Given the description of an element on the screen output the (x, y) to click on. 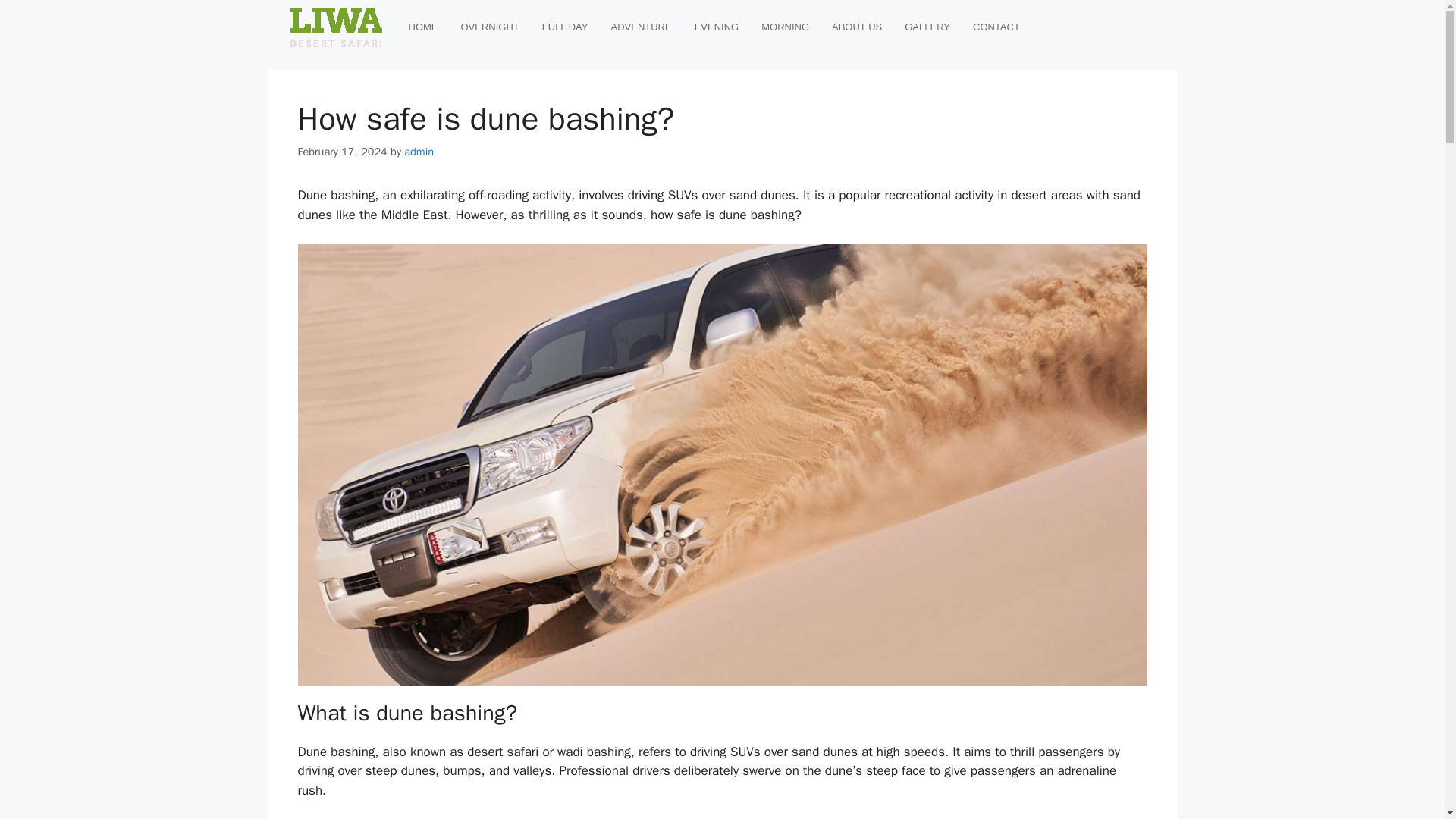
FULL DAY (565, 26)
View all posts by admin (418, 151)
OVERNIGHT (488, 26)
ABOUT US (857, 26)
EVENING (716, 26)
admin (418, 151)
MORNING (785, 26)
HOME (423, 26)
ADVENTURE (640, 26)
CONTACT (995, 26)
GALLERY (926, 26)
